Given the description of an element on the screen output the (x, y) to click on. 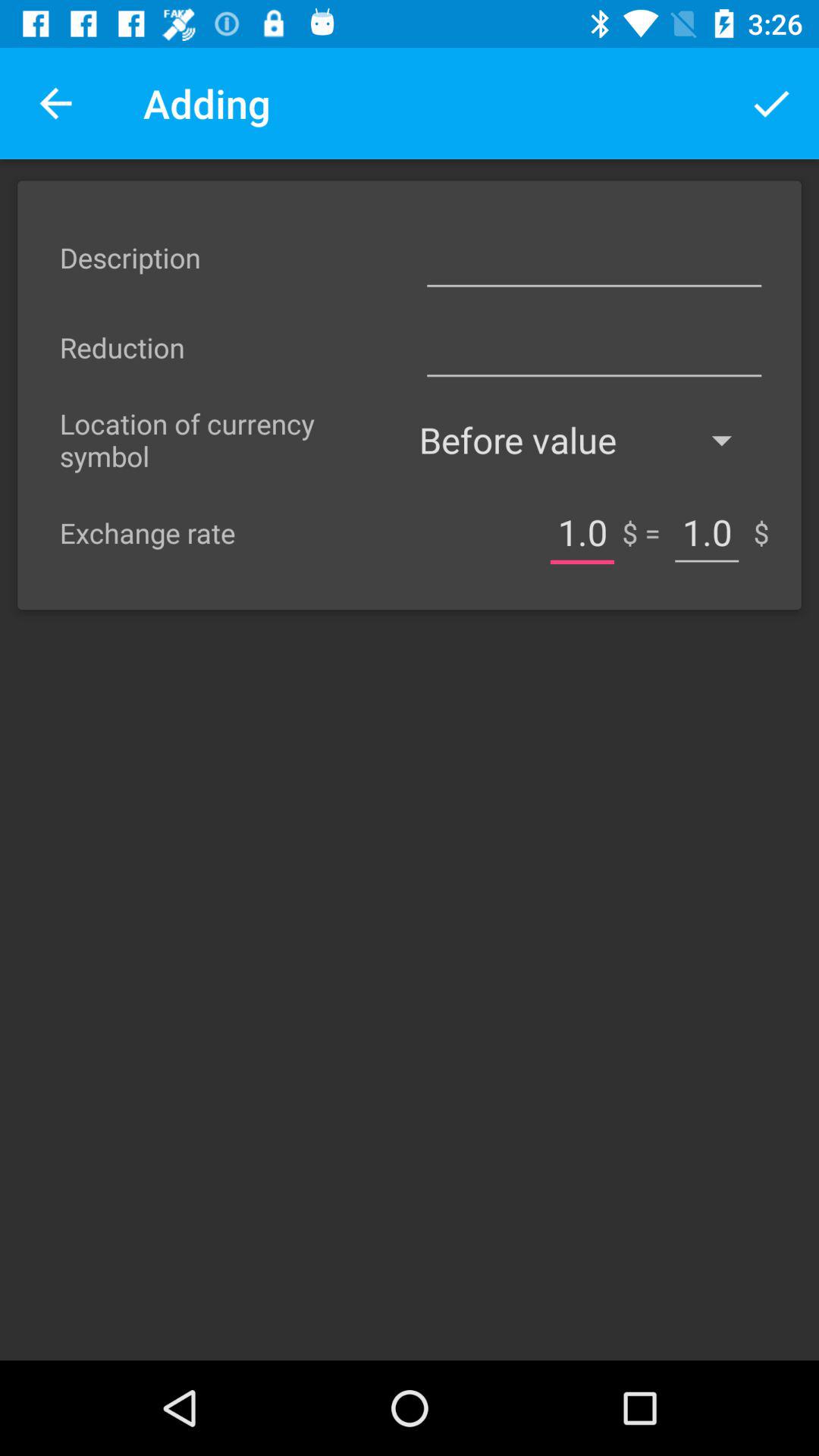
open keyboard (594, 257)
